Given the description of an element on the screen output the (x, y) to click on. 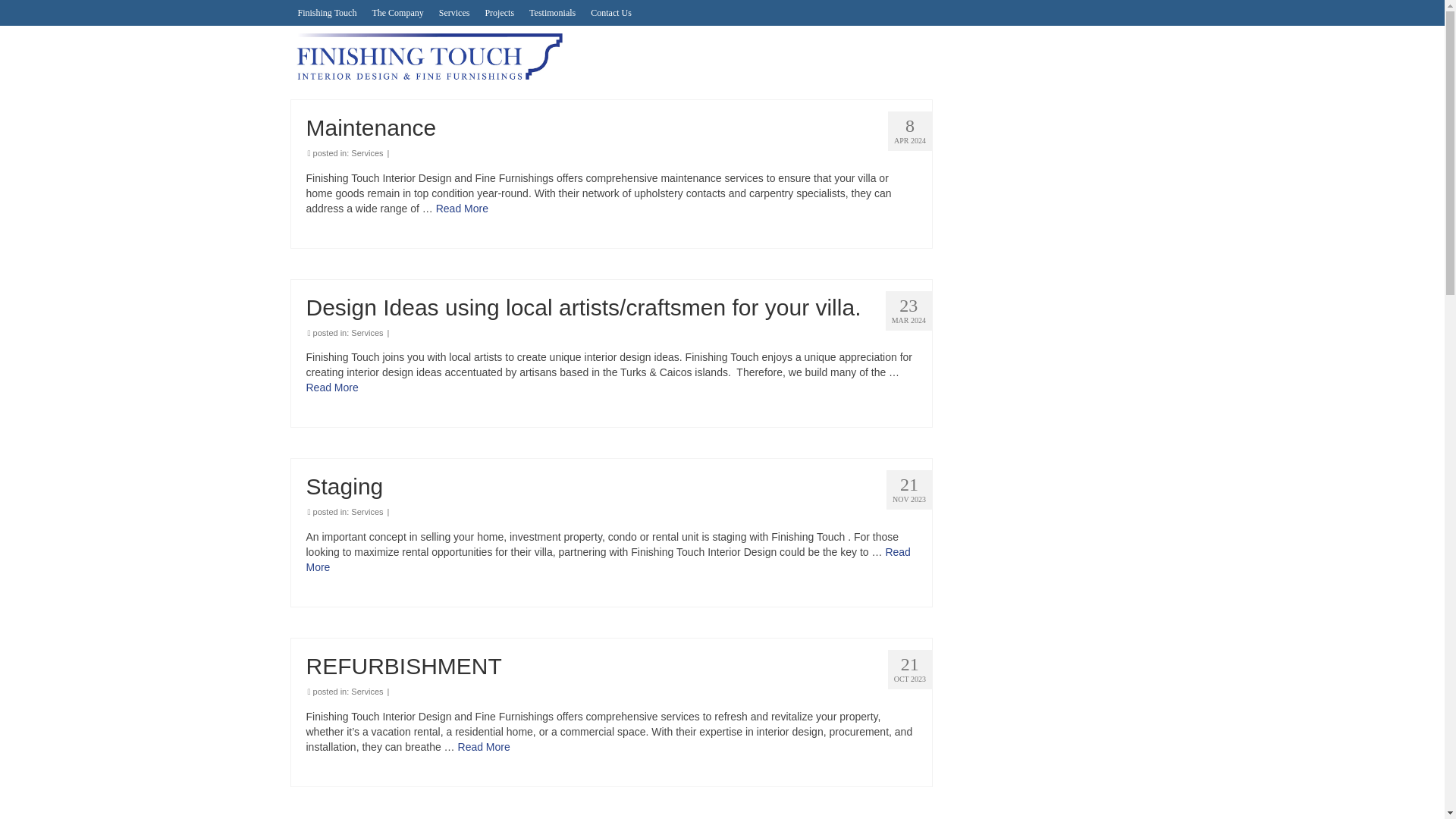
Projects (499, 12)
Services (366, 332)
Read More (331, 387)
Staging (611, 486)
Testimonials (552, 12)
The Company (397, 12)
Finishing Touch (326, 12)
Services (366, 691)
Read More (608, 559)
Finishing Touch (428, 56)
Read More (484, 746)
Services (366, 153)
Read More (461, 208)
Services (366, 511)
Services (453, 12)
